Given the description of an element on the screen output the (x, y) to click on. 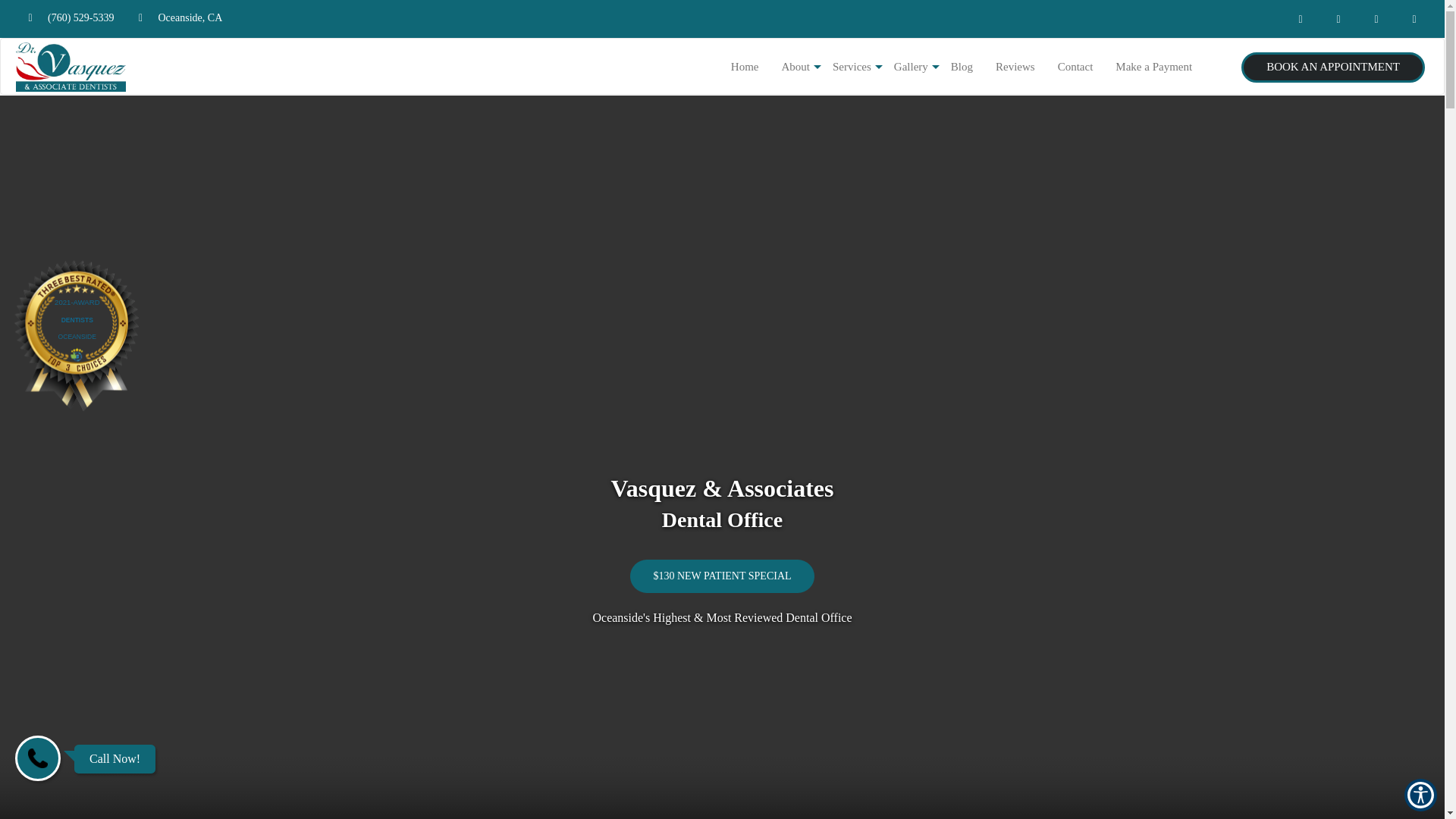
Make a Payment (1153, 66)
Home (744, 66)
Contact (1075, 66)
Best Local dentists in Oceanside (75, 335)
BOOK AN APPOINTMENT (1333, 67)
About (796, 66)
Gallery (910, 66)
Services (851, 66)
Reviews (1015, 66)
Brand Logo (70, 66)
Oceanside, CA (175, 18)
